Given the description of an element on the screen output the (x, y) to click on. 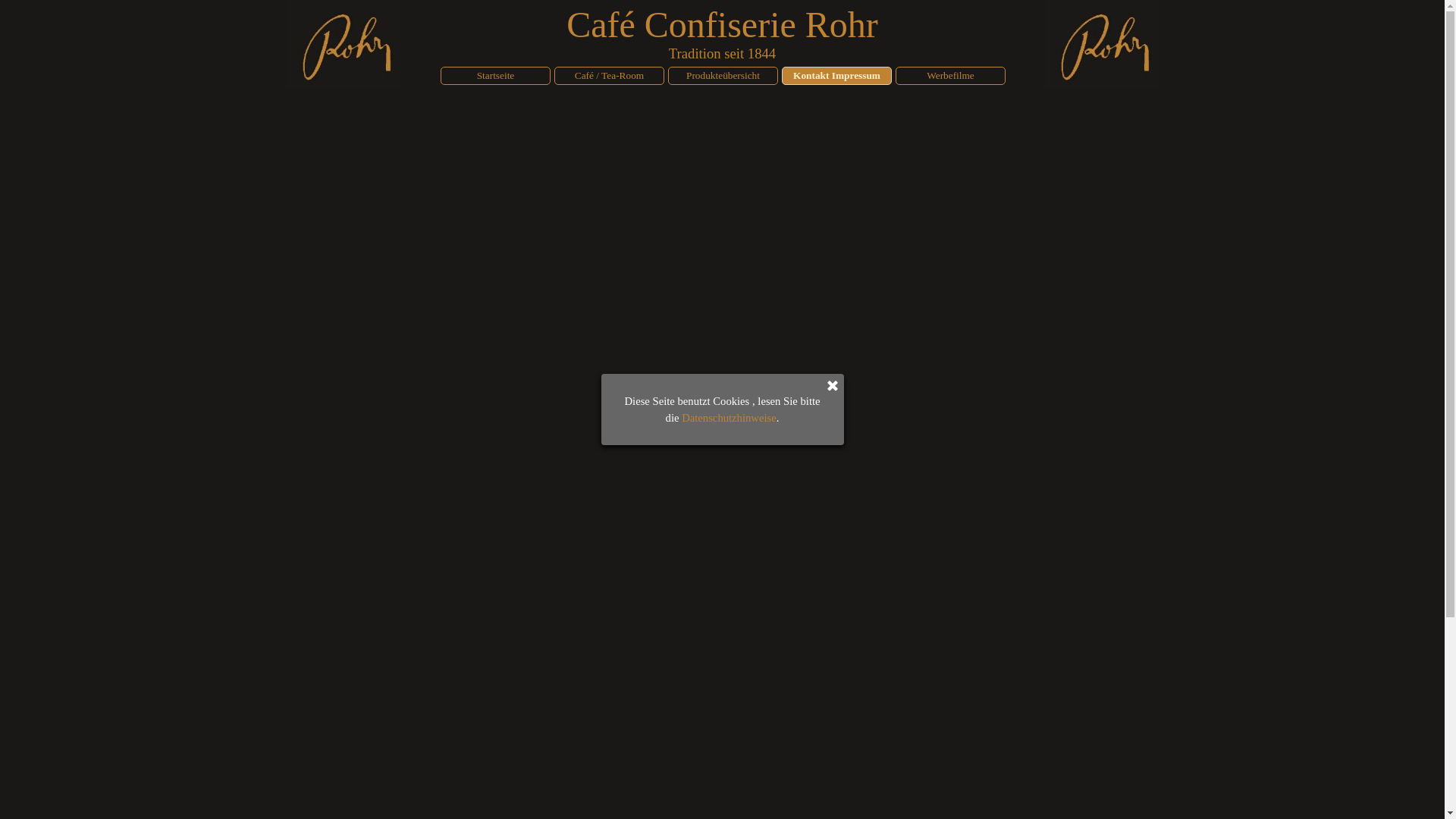
Datenschutzhinweise Element type: text (728, 417)
Werbefilme Element type: text (950, 75)
Startseite Element type: text (495, 75)
